Given the description of an element on the screen output the (x, y) to click on. 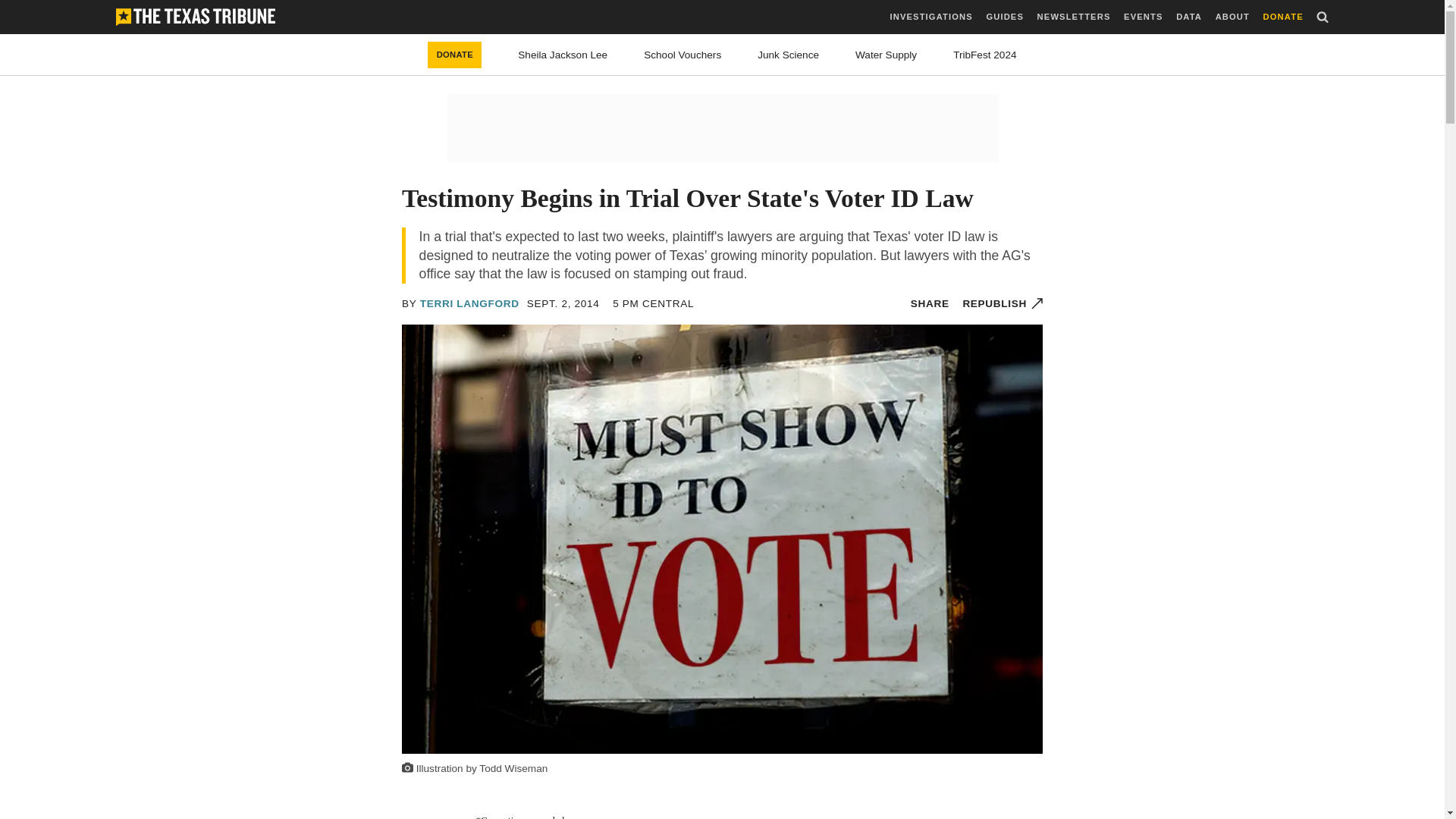
School Vouchers (681, 54)
Water Supply (886, 54)
Junk Science (787, 54)
2014-09-02 17:01 CDT (563, 303)
TERRI LANGFORD (469, 303)
REPUBLISH (1002, 303)
DONATE (1283, 17)
INVESTIGATIONS (930, 17)
Sheila Jackson Lee (562, 54)
TribFest 2024 (984, 54)
EVENTS (1142, 17)
DONATE (454, 54)
ABOUT (1232, 17)
2014-09-02 17:01 CDT (653, 303)
NEWSLETTERS (1073, 17)
